Given the description of an element on the screen output the (x, y) to click on. 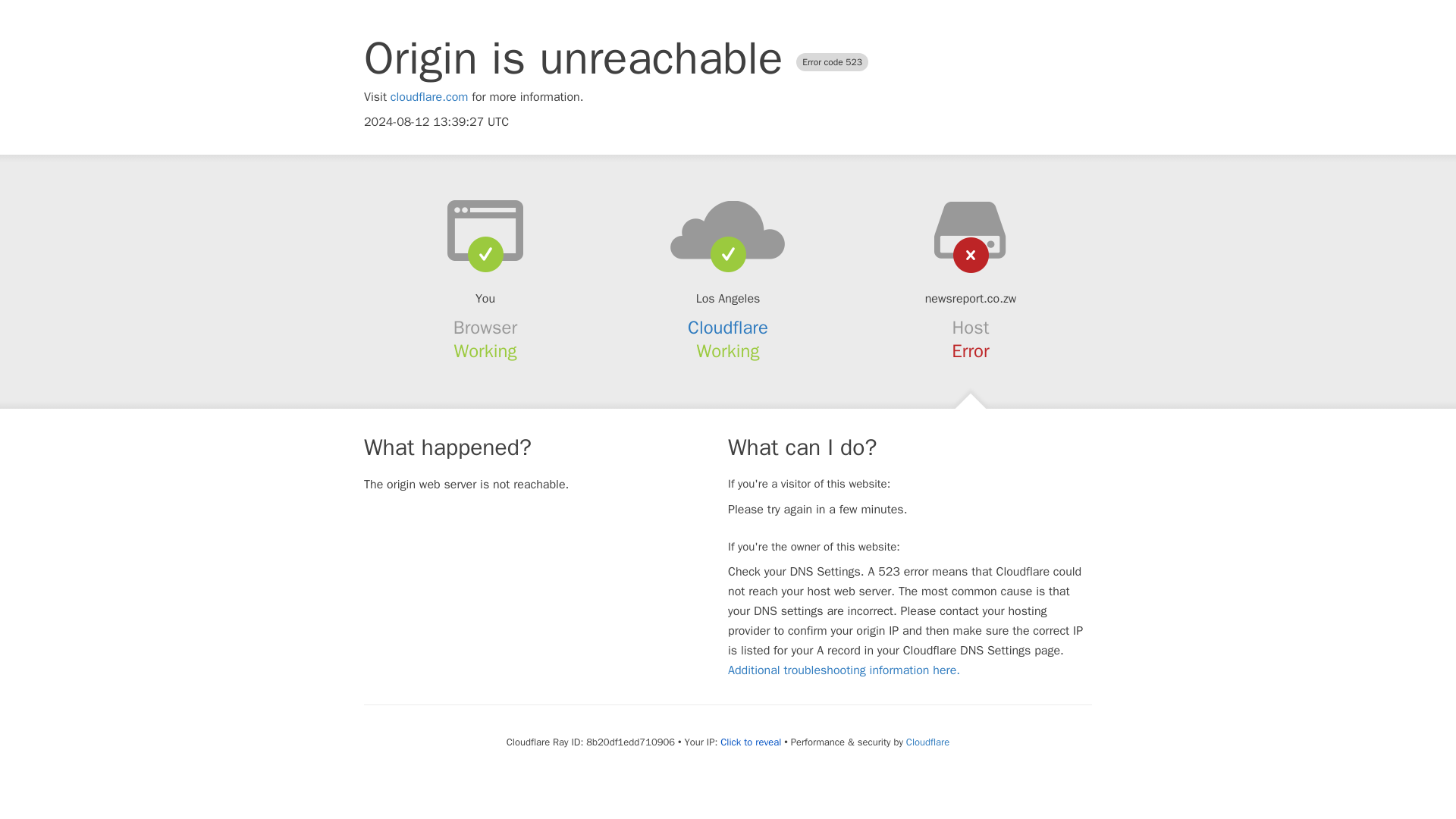
Additional troubleshooting information here. (843, 670)
Click to reveal (750, 742)
Cloudflare (727, 327)
cloudflare.com (429, 96)
Cloudflare (927, 741)
